Given the description of an element on the screen output the (x, y) to click on. 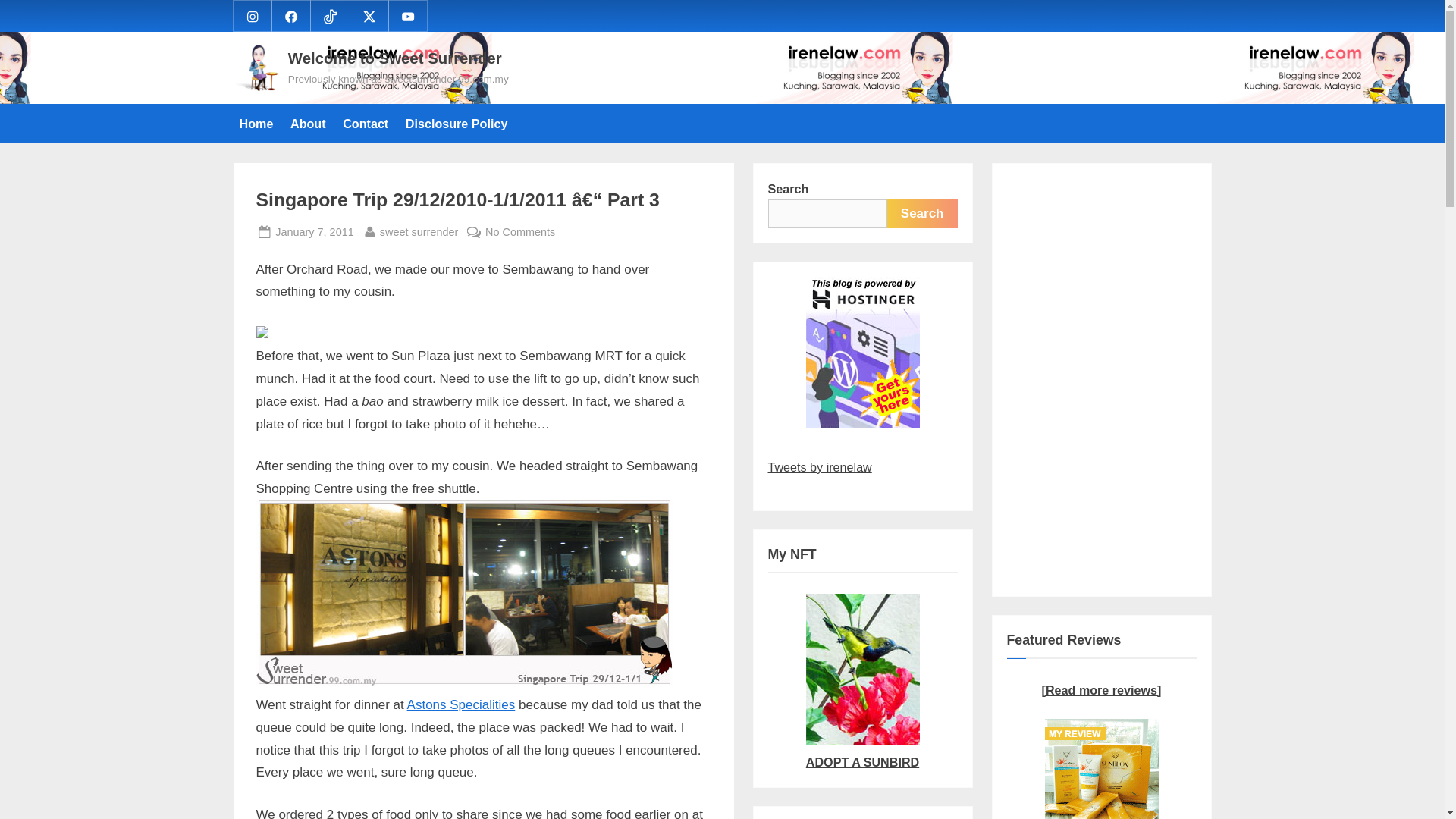
Home (255, 123)
Disclosure Policy (455, 123)
ADOPT A SUNBIRD (861, 751)
Contact (365, 123)
Twitter (368, 15)
Facebook (291, 15)
Search (922, 213)
Youtube (407, 15)
TikTok (329, 15)
